Given the description of an element on the screen output the (x, y) to click on. 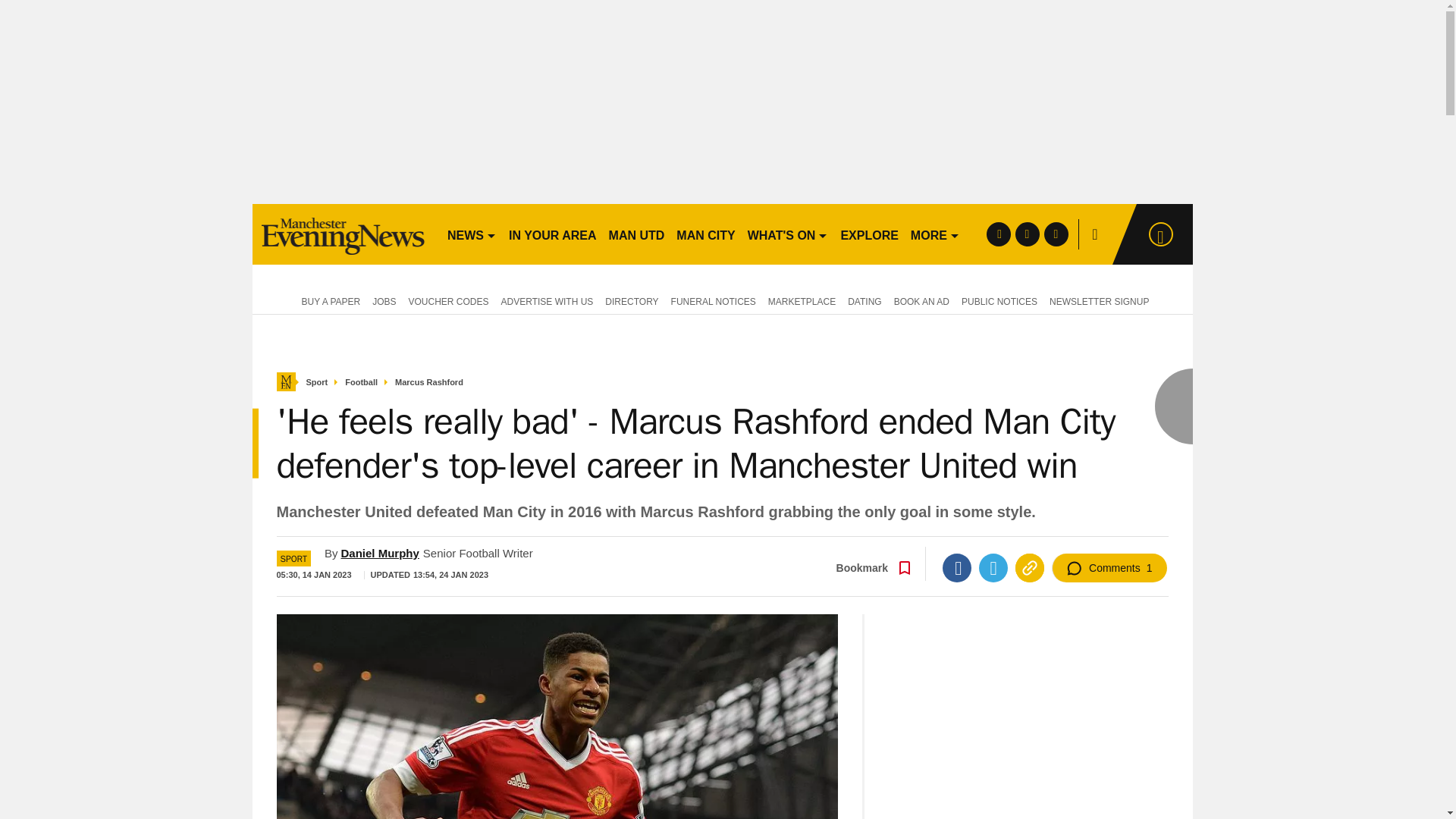
Twitter (992, 567)
Comments (1108, 567)
Facebook (956, 567)
WHAT'S ON (787, 233)
NEWS (471, 233)
twitter (1026, 233)
men (342, 233)
MAN CITY (705, 233)
facebook (997, 233)
IN YOUR AREA (552, 233)
